Given the description of an element on the screen output the (x, y) to click on. 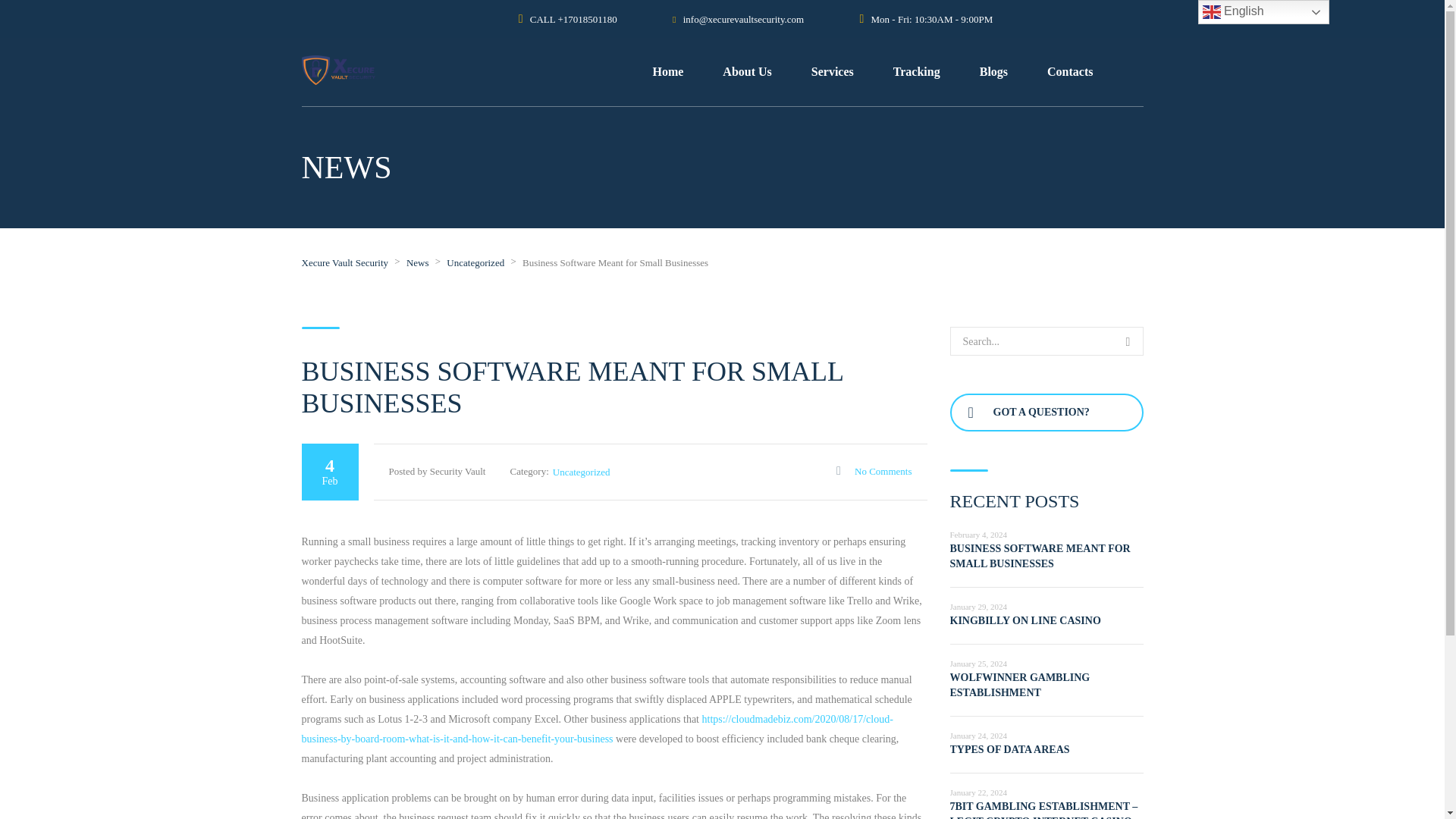
No Comments (873, 471)
TYPES OF DATA AREAS (1008, 749)
Uncategorized (581, 471)
Xecure Vault Security (344, 262)
Go to News. (417, 262)
News (417, 262)
Uncategorized (474, 262)
GOT A QUESTION? (1045, 412)
BUSINESS SOFTWARE MEANT FOR SMALL BUSINESSES (1039, 555)
KINGBILLY ON LINE CASINO (1024, 620)
Go to the Uncategorized Category archives. (474, 262)
WOLFWINNER GAMBLING ESTABLISHMENT (1019, 684)
Go to Xecure Vault Security. (344, 262)
